Given the description of an element on the screen output the (x, y) to click on. 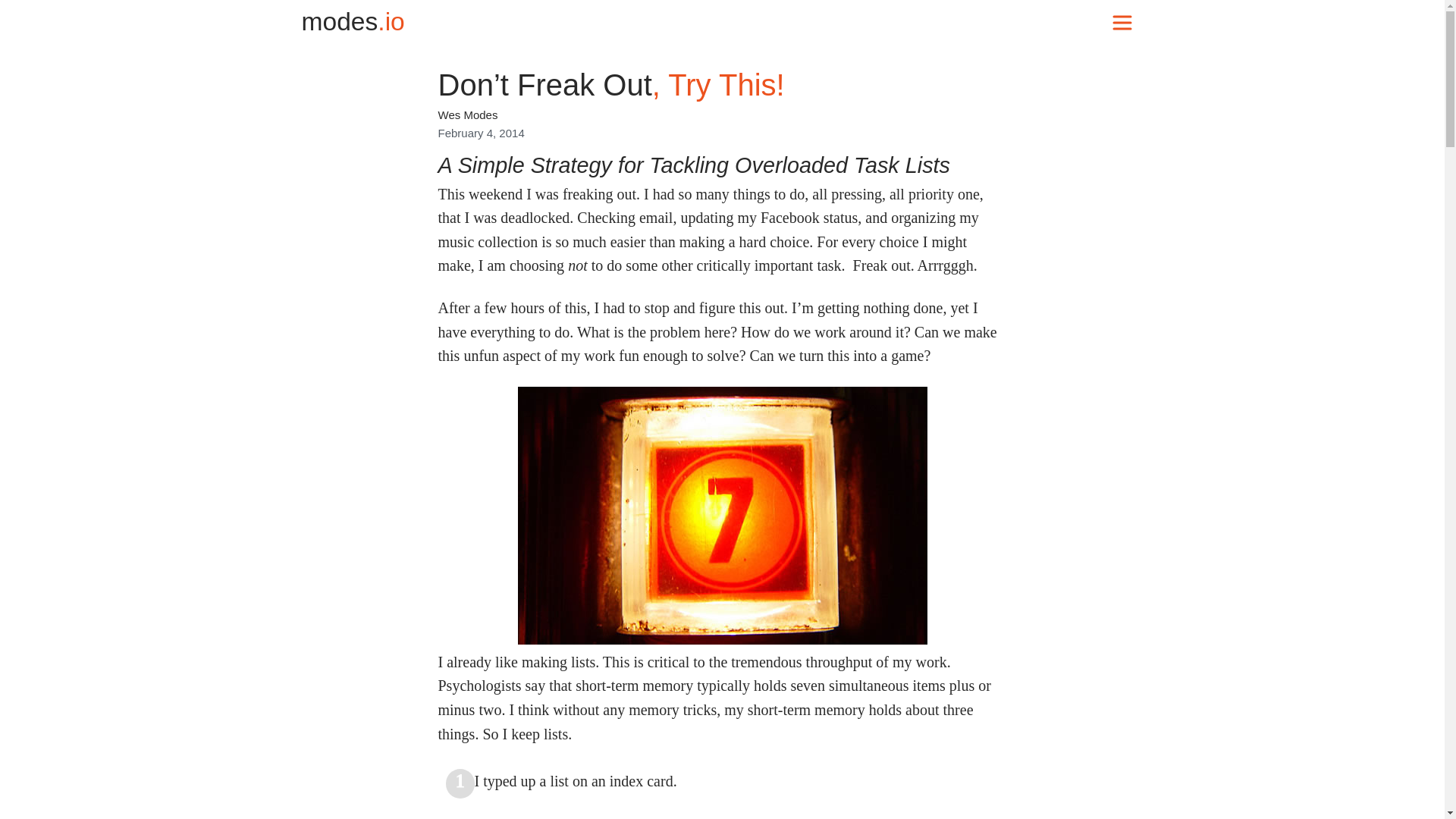
modes.io (352, 21)
February 4, 2014 (481, 132)
Wes Modes (467, 114)
